Given the description of an element on the screen output the (x, y) to click on. 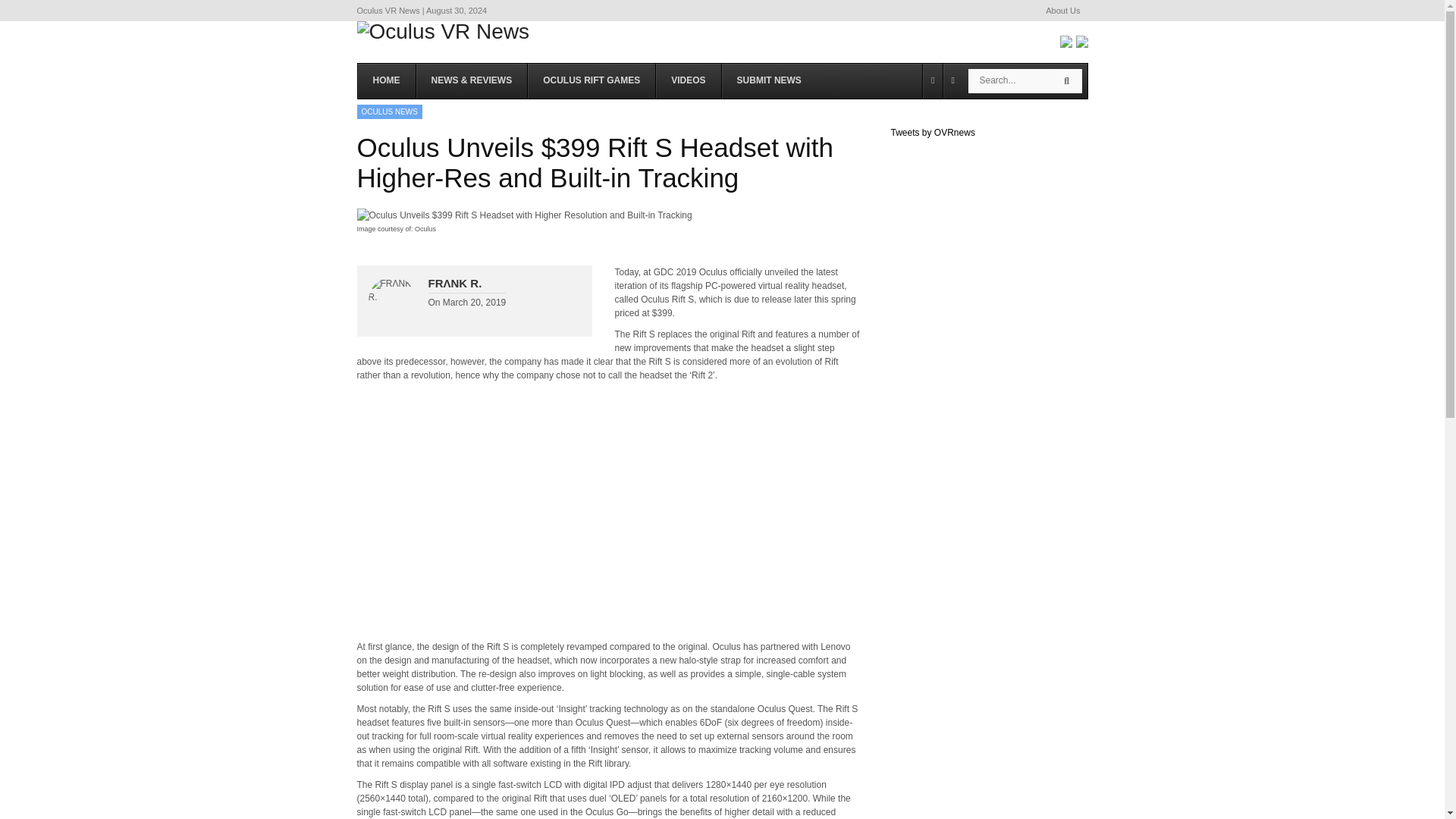
Oculus videos from around the web (687, 80)
Tweets by OVRnews (931, 132)
About Us (1062, 10)
Discover Oculus Rift Games and Apps (591, 80)
VIDEOS (687, 80)
Follow us on Twitter (1081, 41)
OCULUS RIFT GAMES (591, 80)
Search (1066, 80)
OCULUS NEWS (389, 111)
SUBMIT NEWS (768, 80)
